Given the description of an element on the screen output the (x, y) to click on. 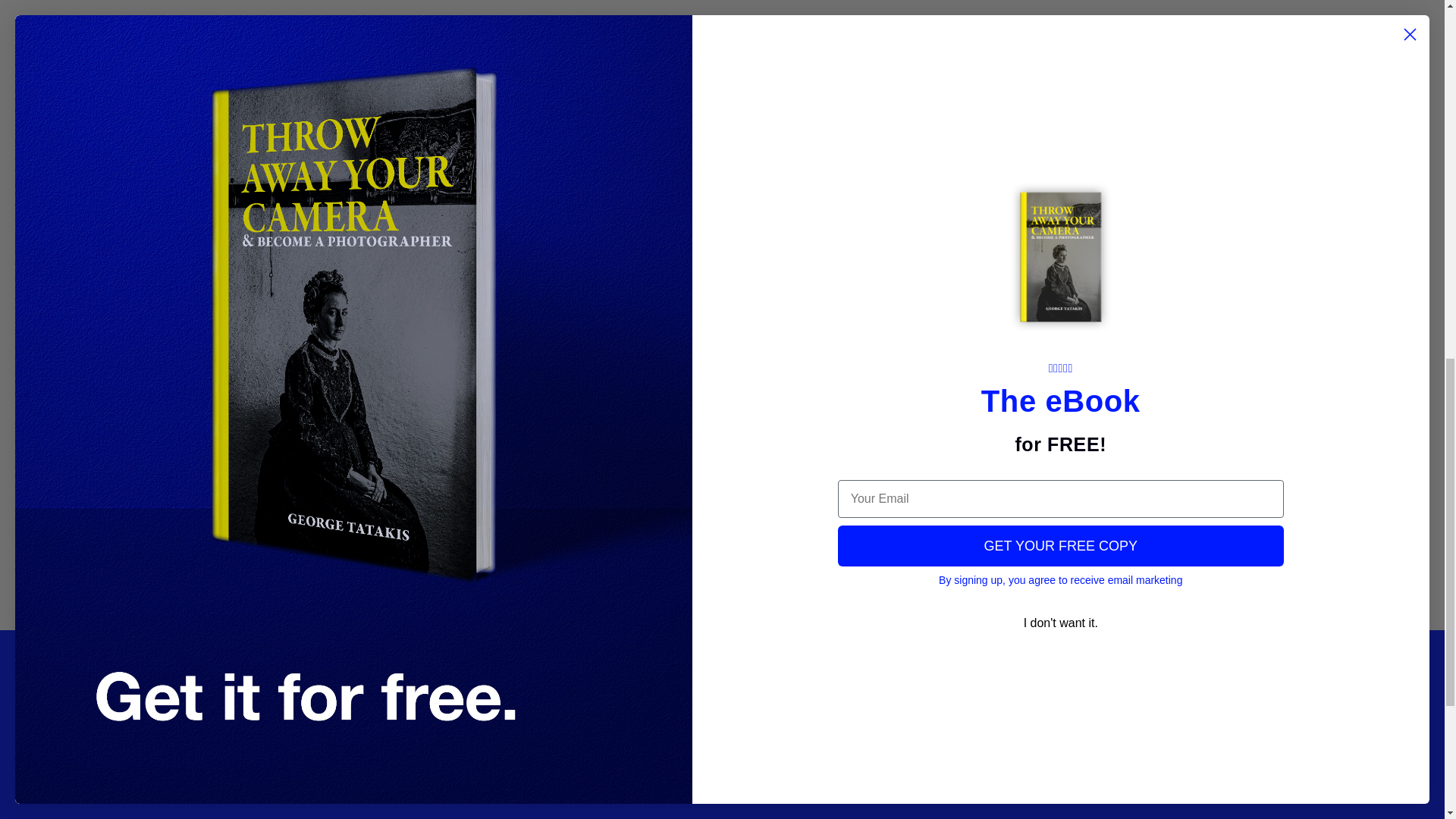
Contact (633, 695)
All collections (441, 753)
Or these... (895, 795)
